Given the description of an element on the screen output the (x, y) to click on. 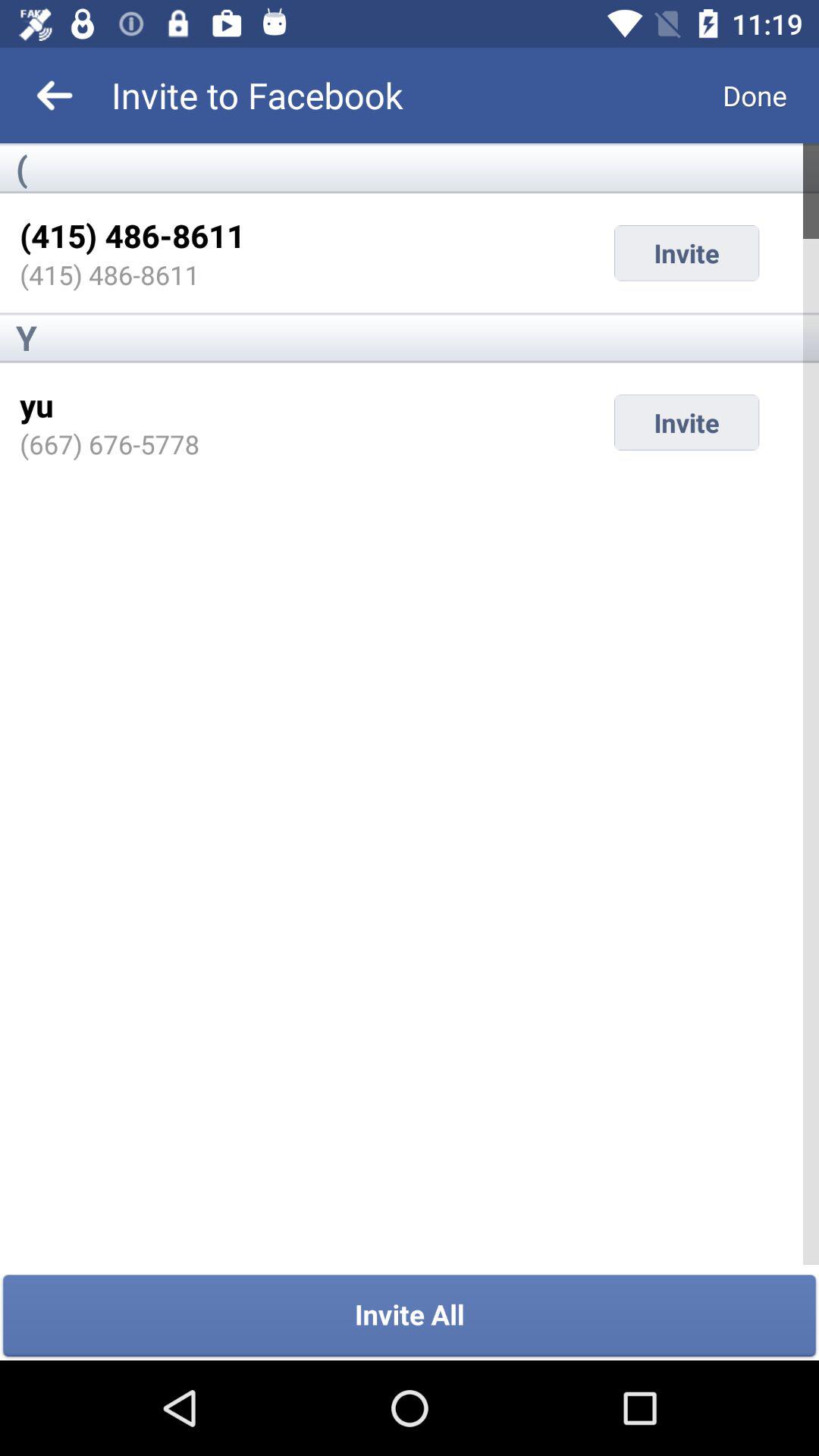
scroll until the (667) 676-5778 (109, 443)
